Given the description of an element on the screen output the (x, y) to click on. 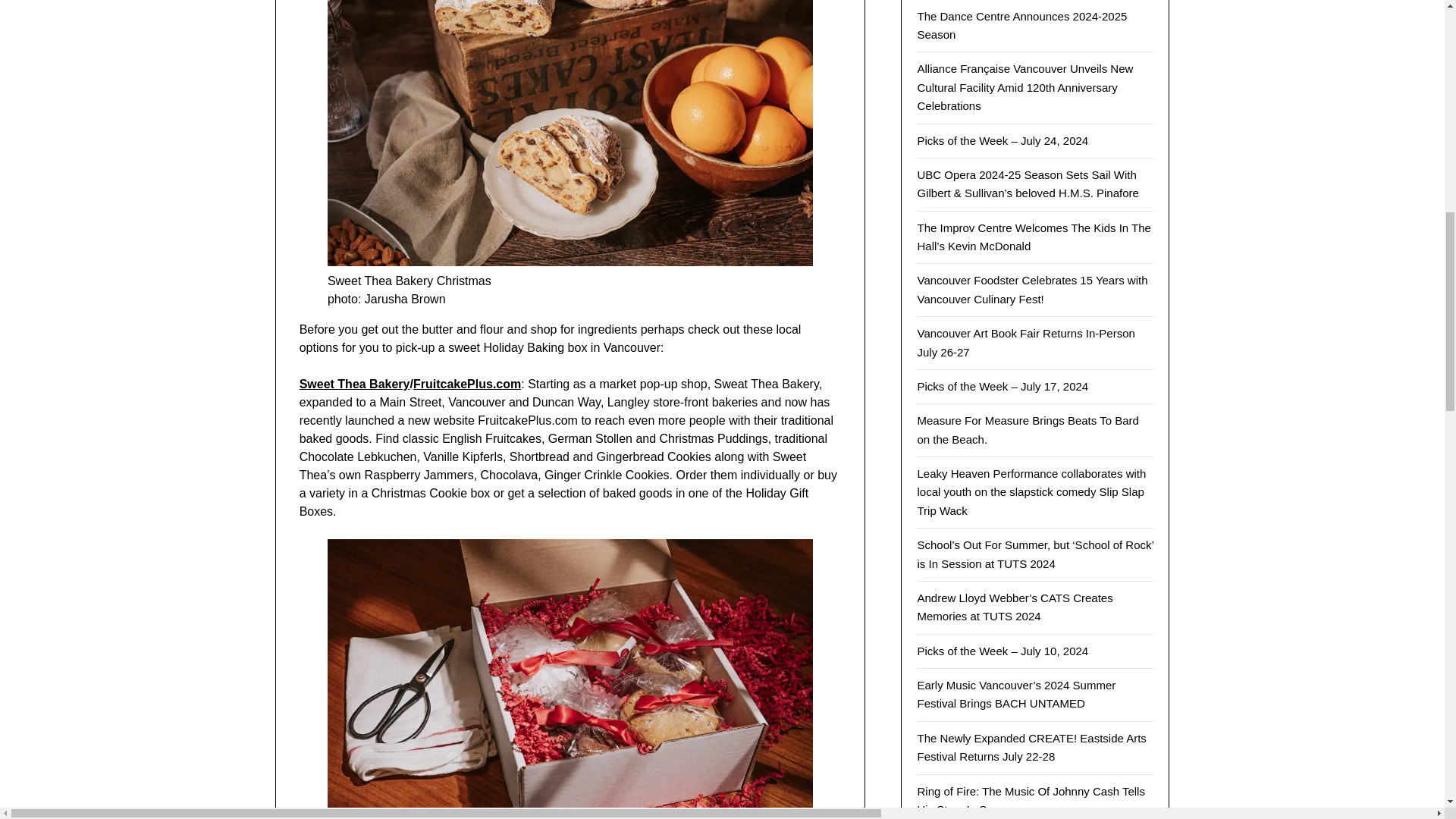
FruitcakePlus.com (467, 383)
Sweet Thea Bakery (354, 383)
